Given the description of an element on the screen output the (x, y) to click on. 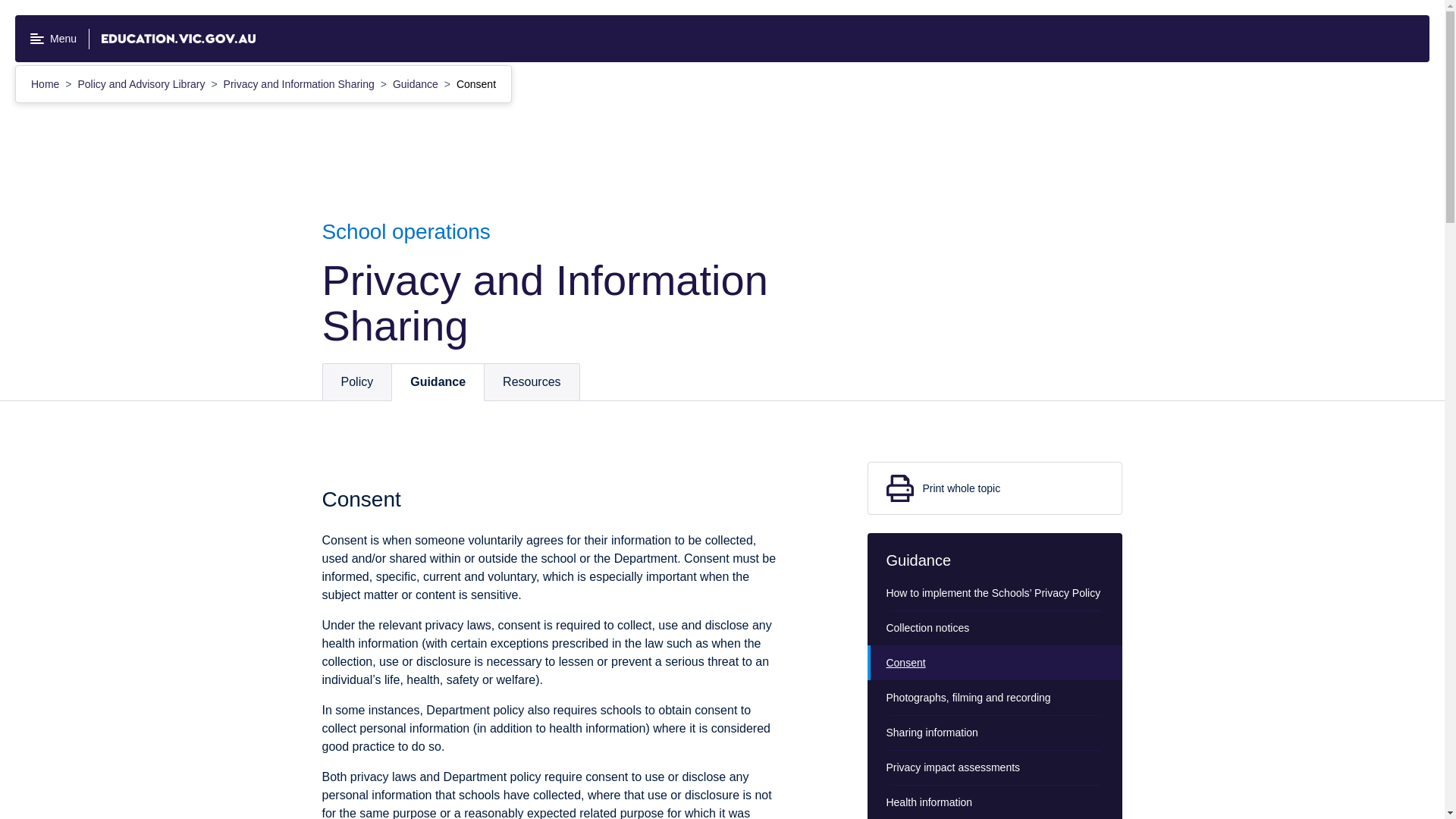
Print whole topic (994, 488)
Home (46, 83)
Collection notices (994, 627)
Resources (531, 381)
Guidance (437, 381)
Menu (53, 38)
Guidance (417, 83)
Privacy and Information Sharing (300, 83)
Policy (357, 381)
Policy and Advisory Library (142, 83)
